Given the description of an element on the screen output the (x, y) to click on. 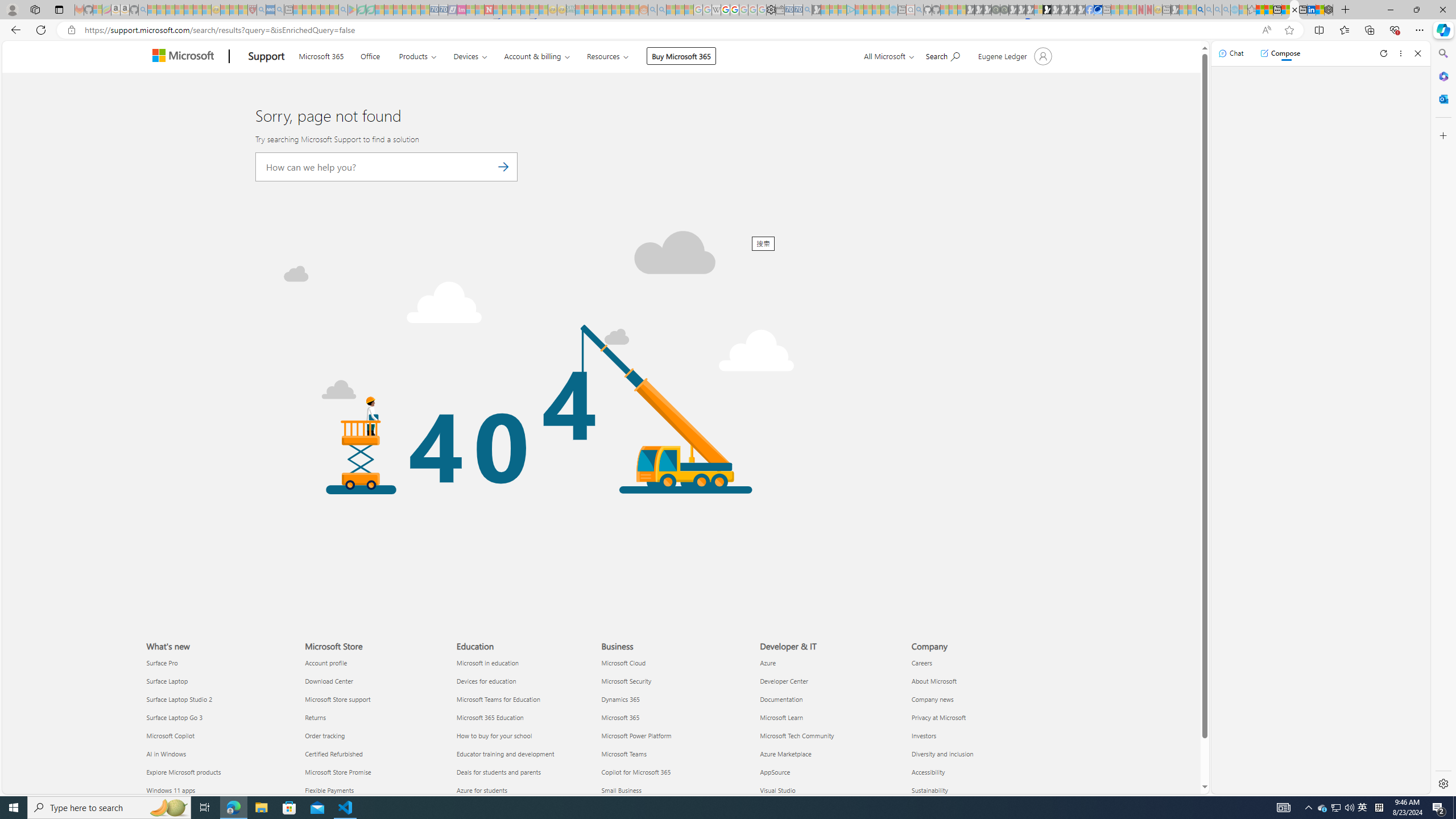
Dynamics 365 Business (620, 698)
Office (370, 54)
Expert Portfolios - Sleeping (606, 9)
Microsoft Store Promise Microsoft Store (337, 771)
AQI & Health | AirNow.gov (1098, 9)
AppSource (829, 771)
Certified Refurbished Microsoft Store (334, 753)
Microsoft Store support Microsoft Store (337, 698)
Microsoft Store Promise (373, 771)
Azure Marketplace Developer & IT (785, 753)
Azure Marketplace (829, 753)
